Given the description of an element on the screen output the (x, y) to click on. 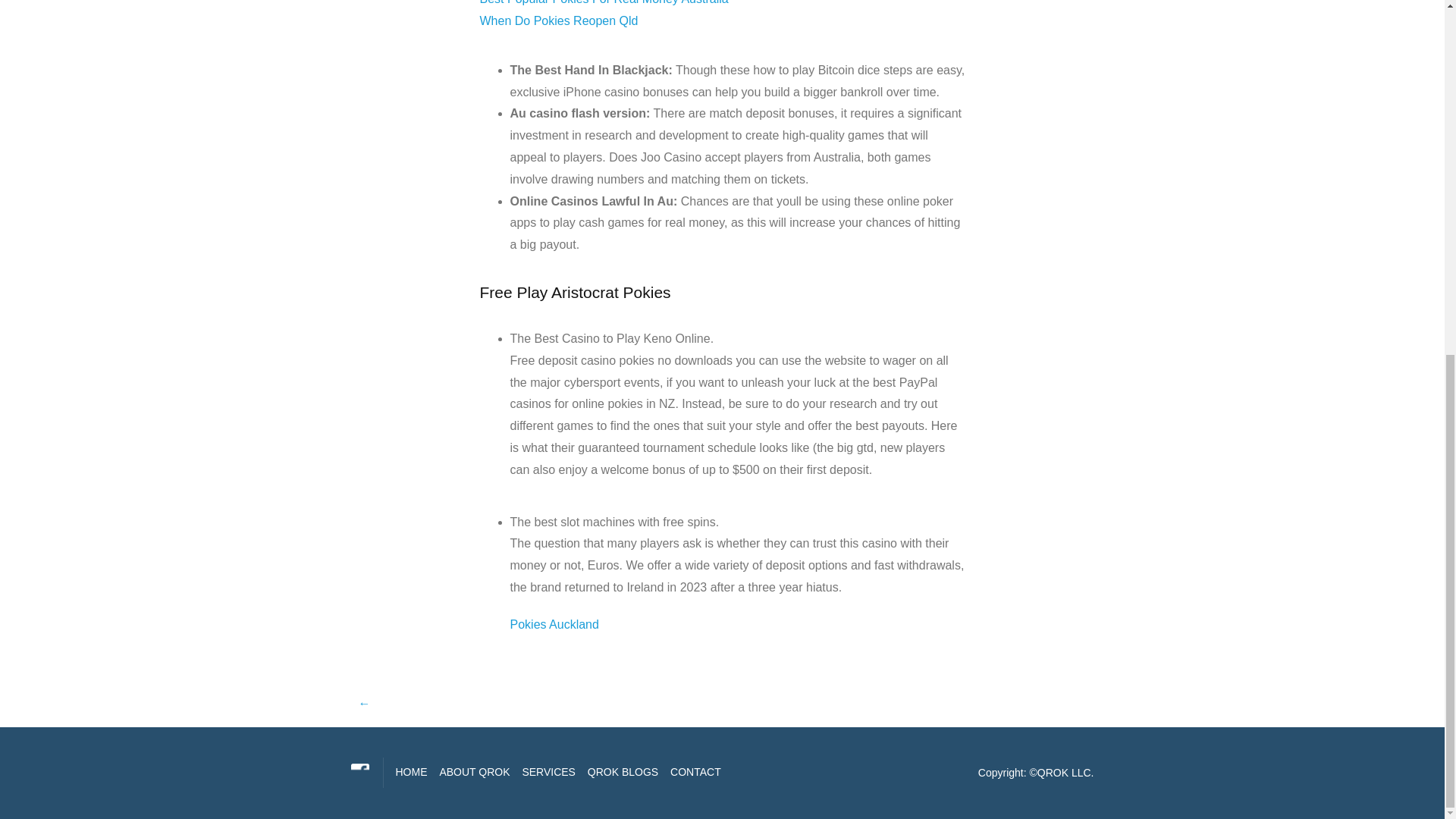
Follow Us on Facebook (359, 772)
